Given the description of an element on the screen output the (x, y) to click on. 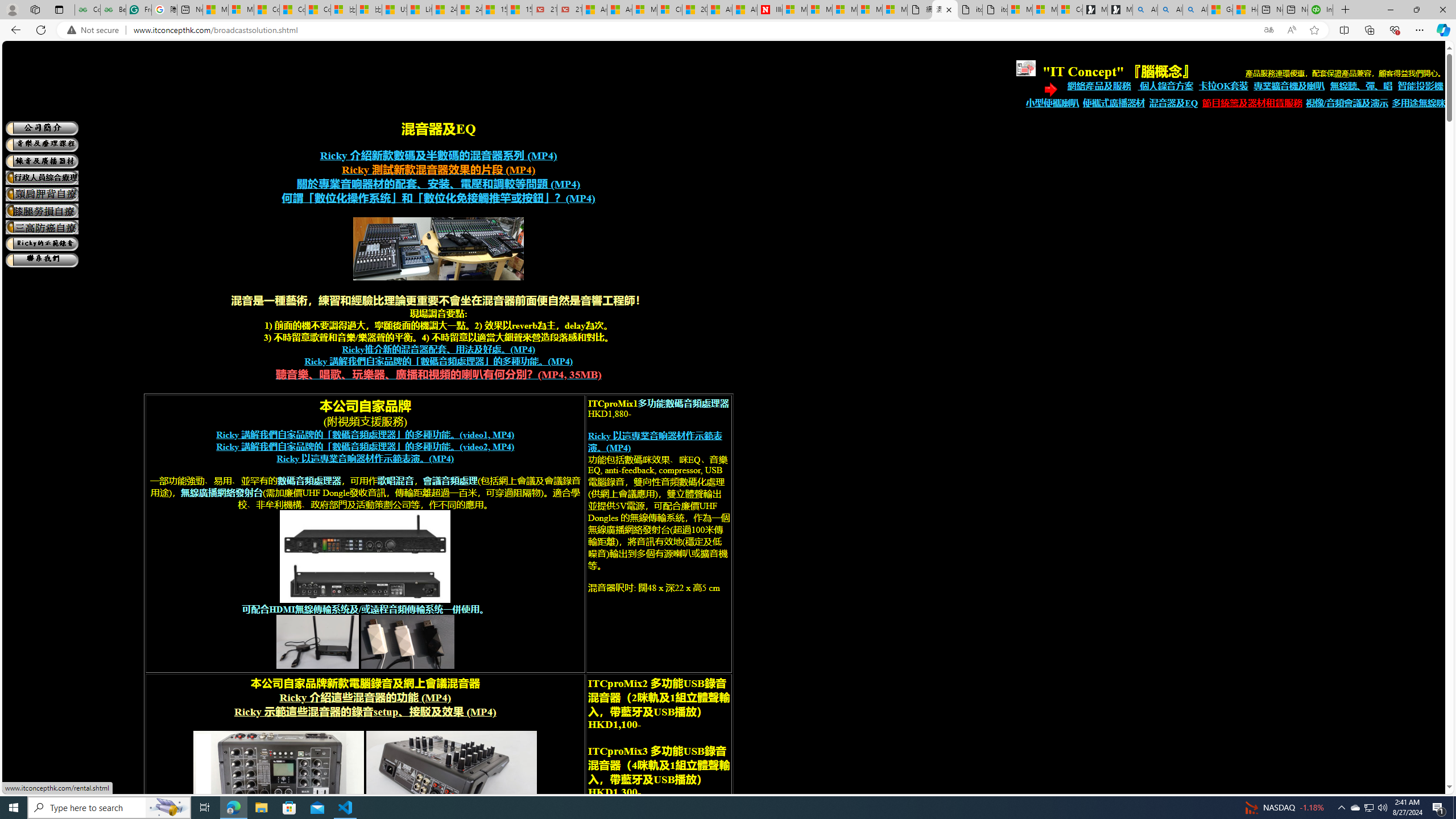
Consumer Health Data Privacy Policy (1069, 9)
Complete Guide to Arrays Data Structure - GeeksforGeeks (86, 9)
